Given the description of an element on the screen output the (x, y) to click on. 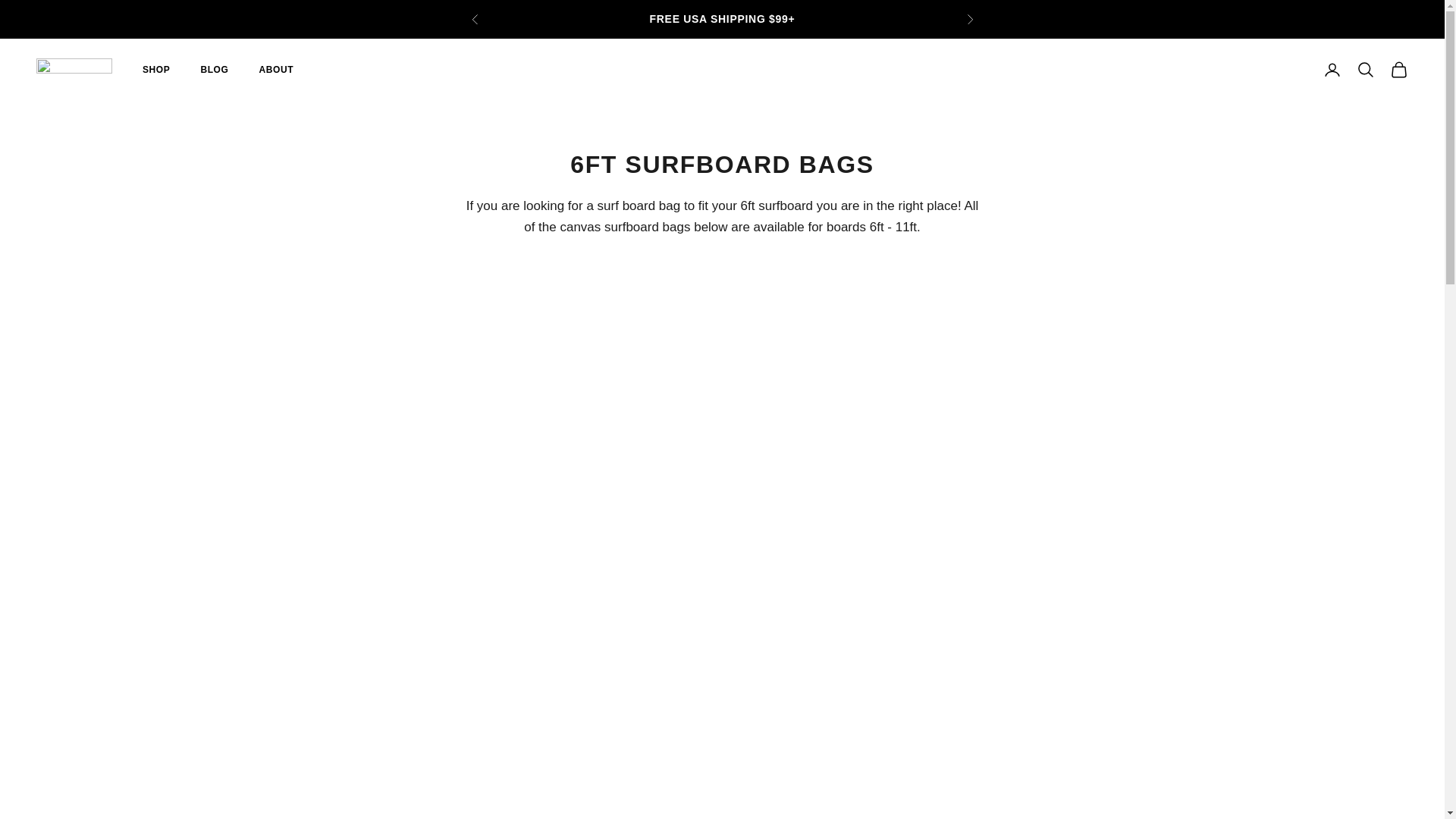
Open account page (1331, 69)
Open cart (1398, 69)
Open search (1365, 69)
Faro Board Bags (74, 69)
